Given the description of an element on the screen output the (x, y) to click on. 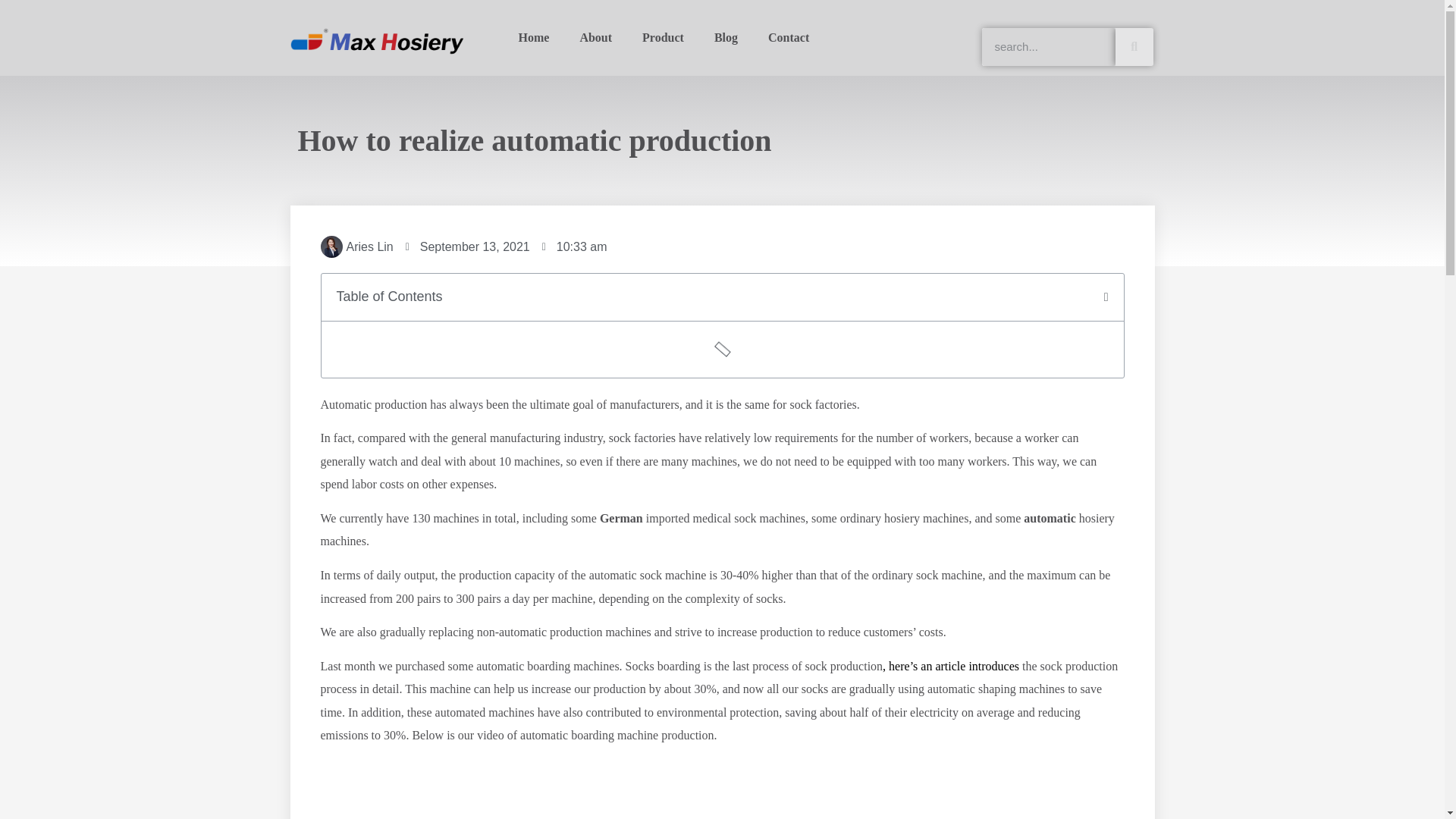
Contact (788, 38)
Product (662, 38)
